Given the description of an element on the screen output the (x, y) to click on. 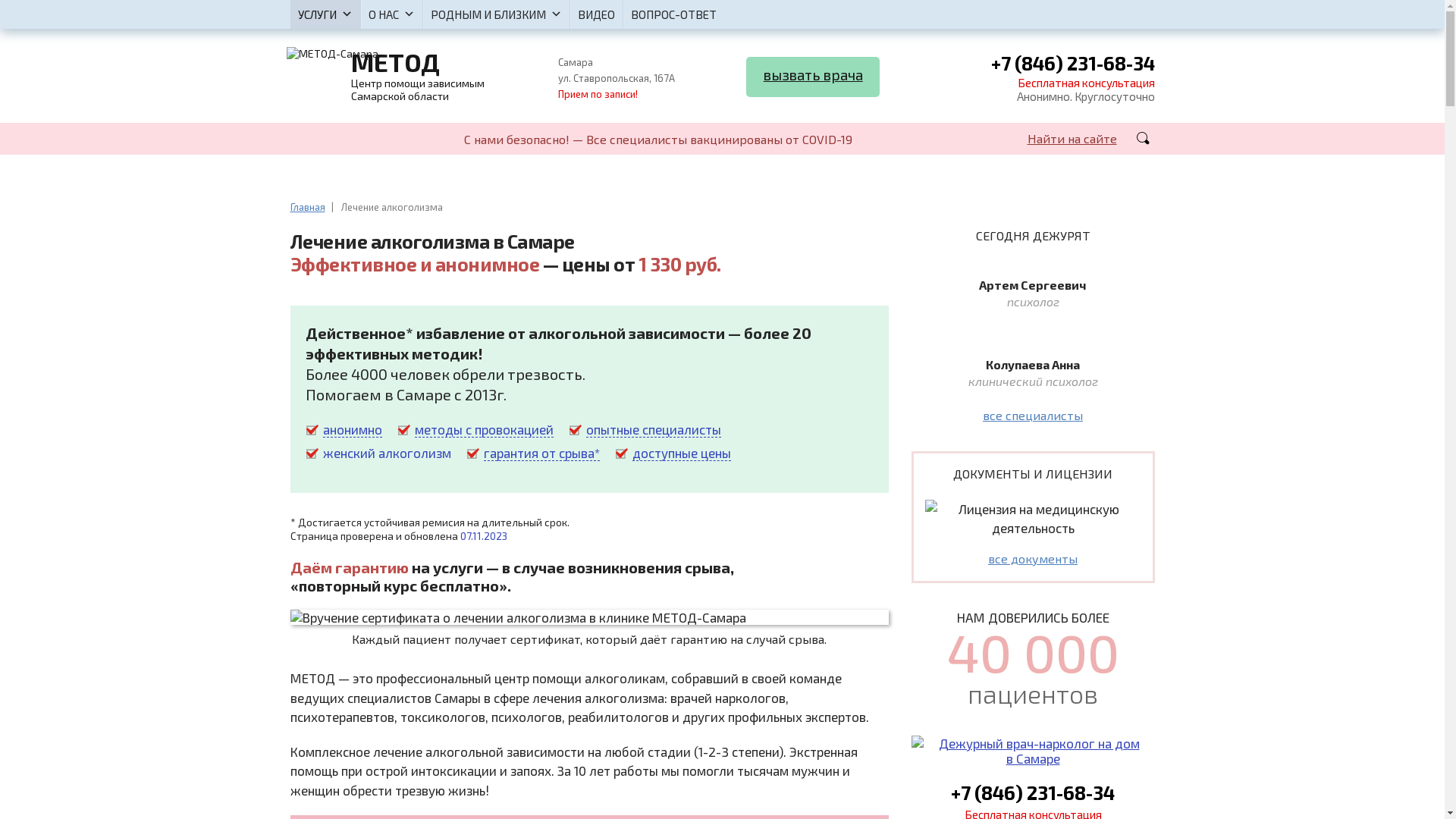
+7 (846) 231-68-34 Element type: text (1032, 792)
+7 (846) 231-68-34 Element type: text (1072, 64)
